Given the description of an element on the screen output the (x, y) to click on. 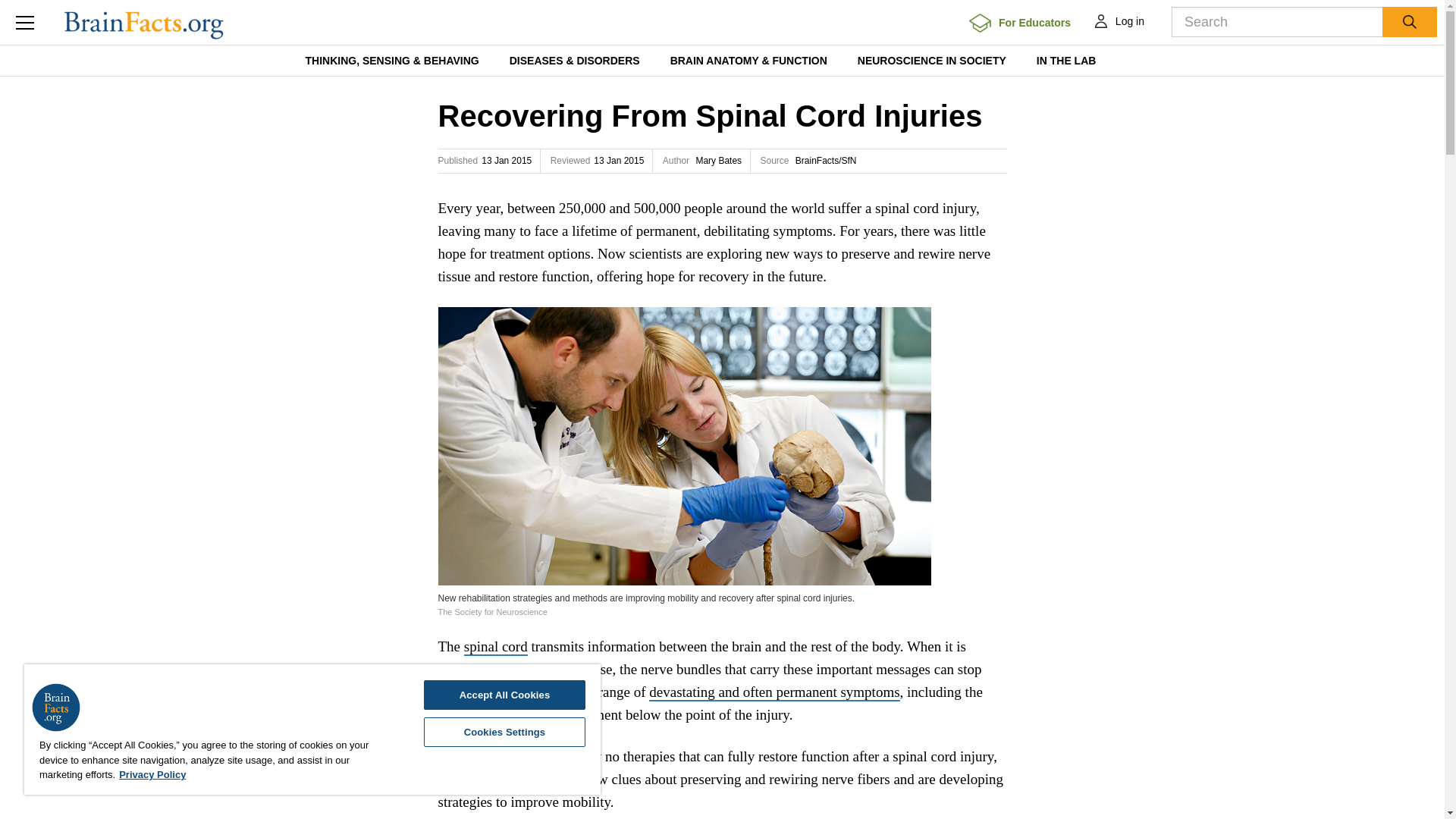
Brain Facts Logo (56, 707)
